Given the description of an element on the screen output the (x, y) to click on. 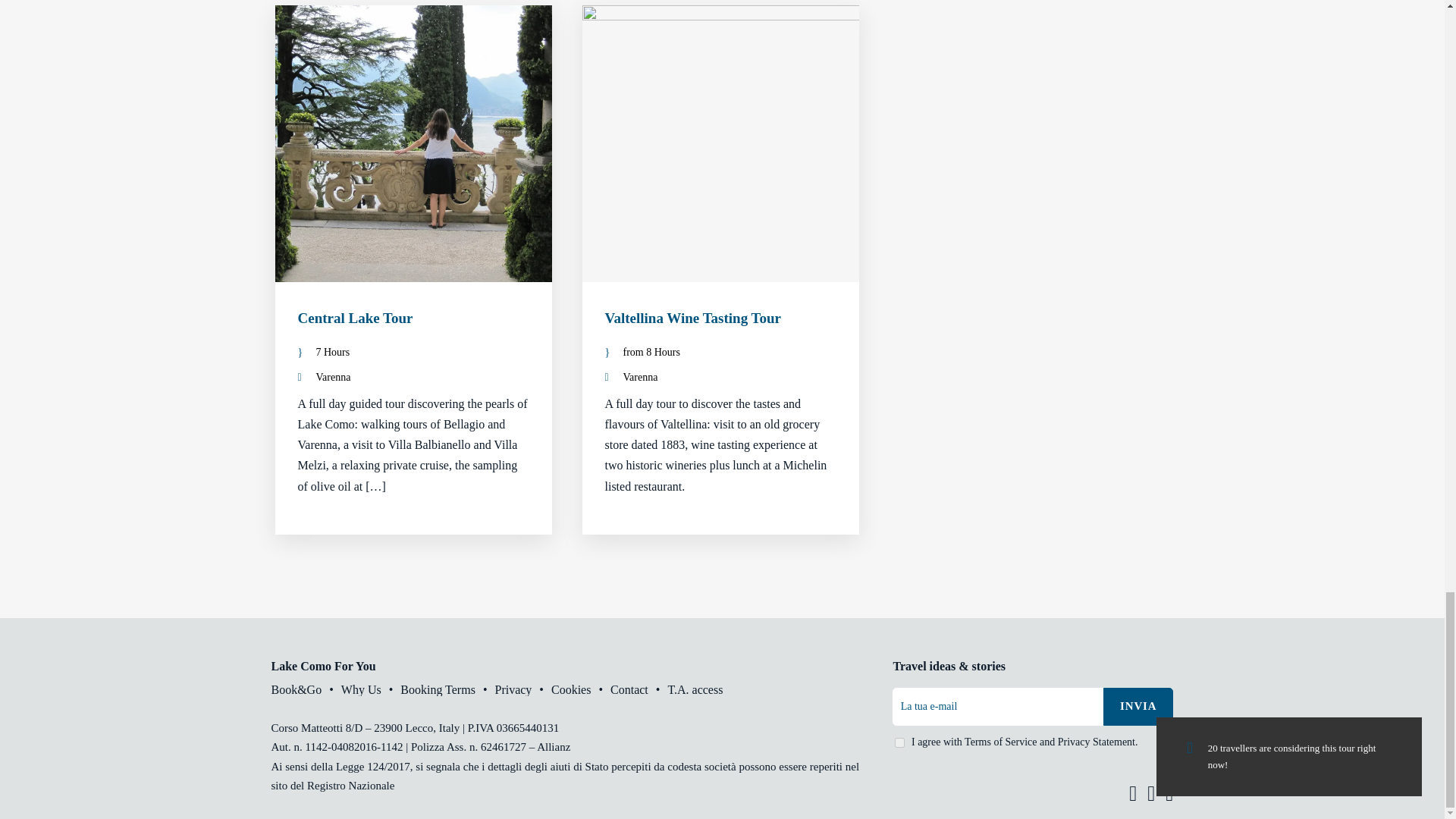
Invia (1138, 706)
1 (899, 742)
